Given the description of an element on the screen output the (x, y) to click on. 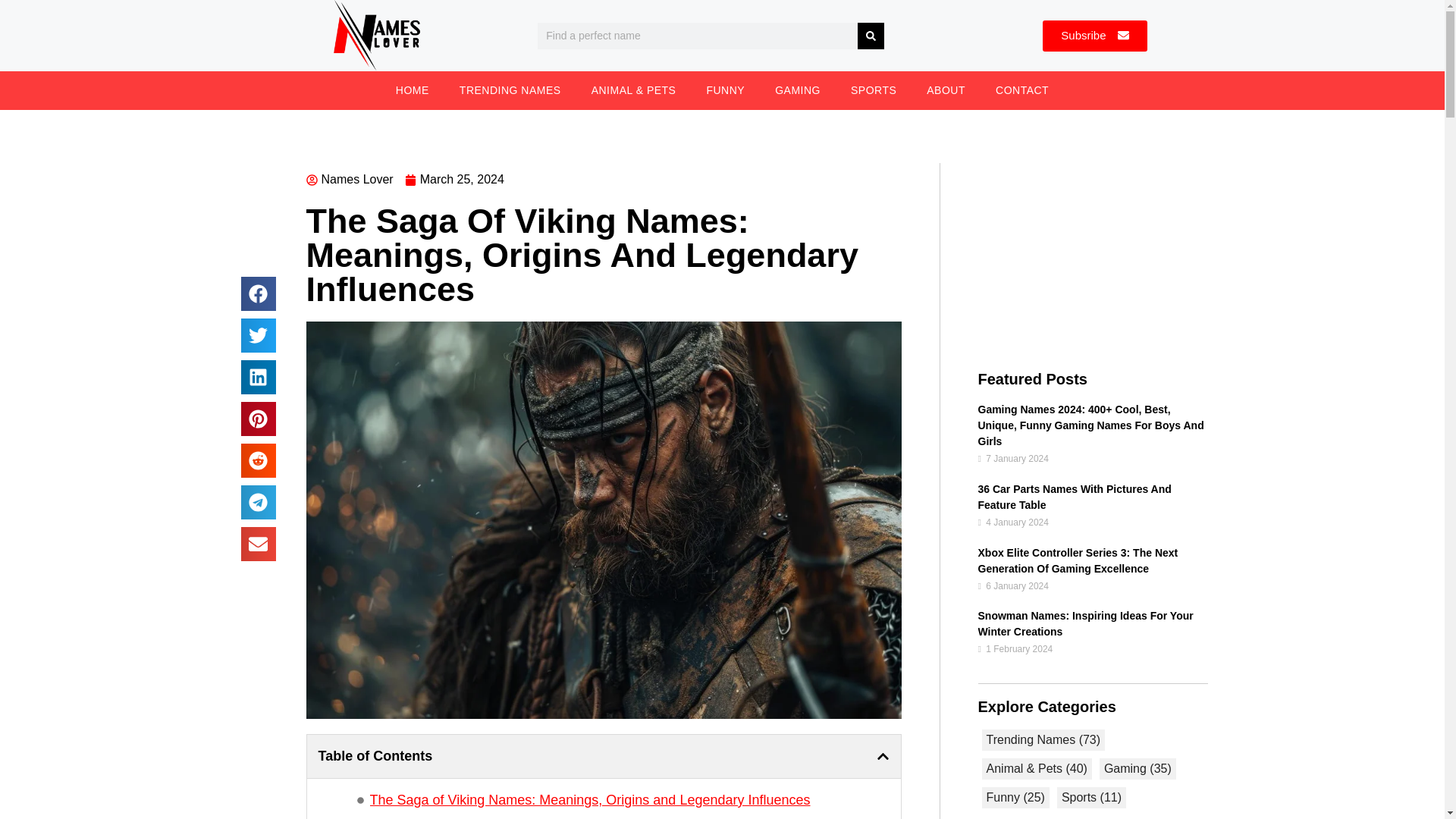
Sports (1091, 797)
Names Lover (349, 179)
Subsribe (1094, 35)
CONTACT (1021, 90)
FUNNY (725, 90)
ABOUT (945, 90)
Funny (1014, 797)
SPORTS (873, 90)
GAMING (797, 90)
TRENDING NAMES (510, 90)
Advertisement (1093, 265)
March 25, 2024 (453, 179)
Trending Names (1042, 739)
Gaming (1137, 768)
